Given the description of an element on the screen output the (x, y) to click on. 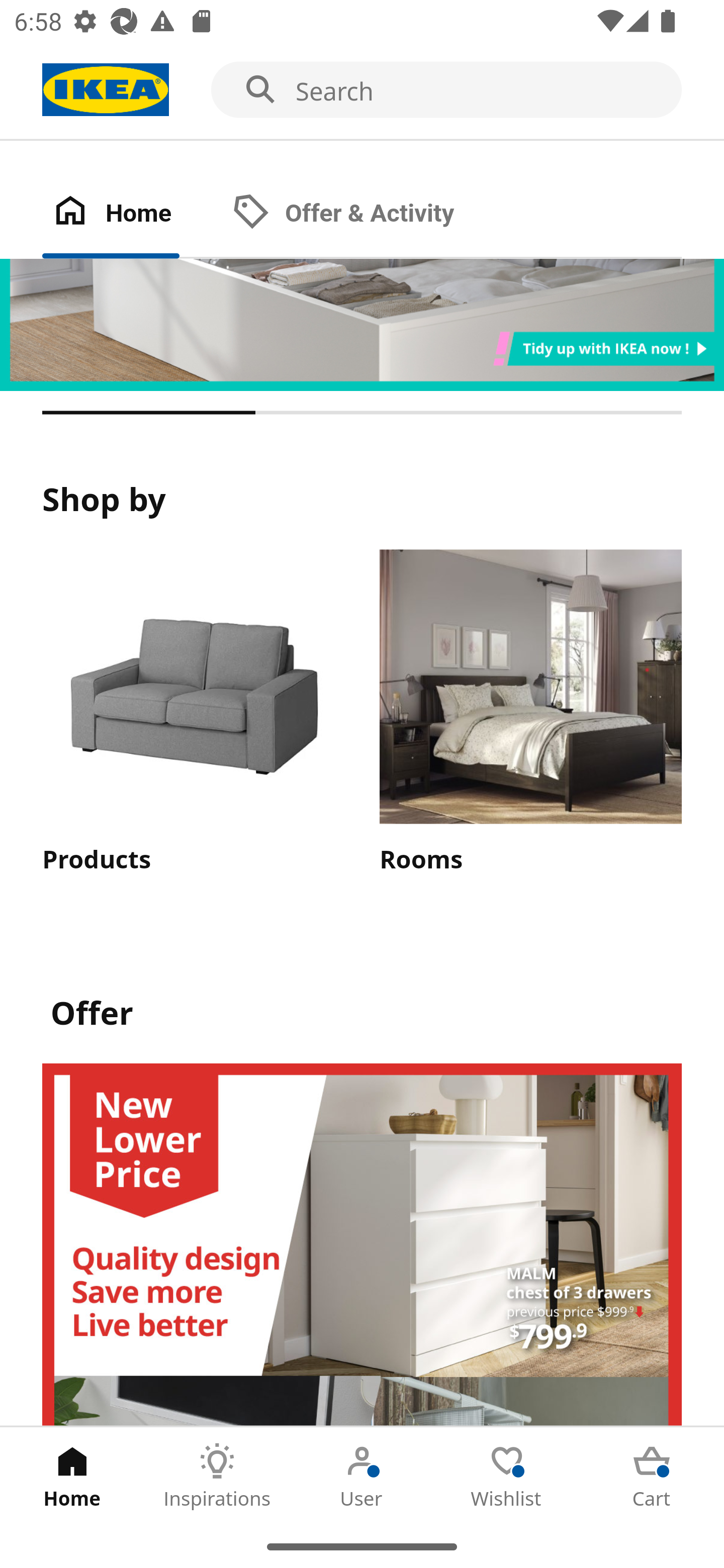
Search (361, 90)
Home
Tab 1 of 2 (131, 213)
Offer & Activity
Tab 2 of 2 (363, 213)
Products (192, 712)
Rooms (530, 712)
Home
Tab 1 of 5 (72, 1476)
Inspirations
Tab 2 of 5 (216, 1476)
User
Tab 3 of 5 (361, 1476)
Wishlist
Tab 4 of 5 (506, 1476)
Cart
Tab 5 of 5 (651, 1476)
